Given the description of an element on the screen output the (x, y) to click on. 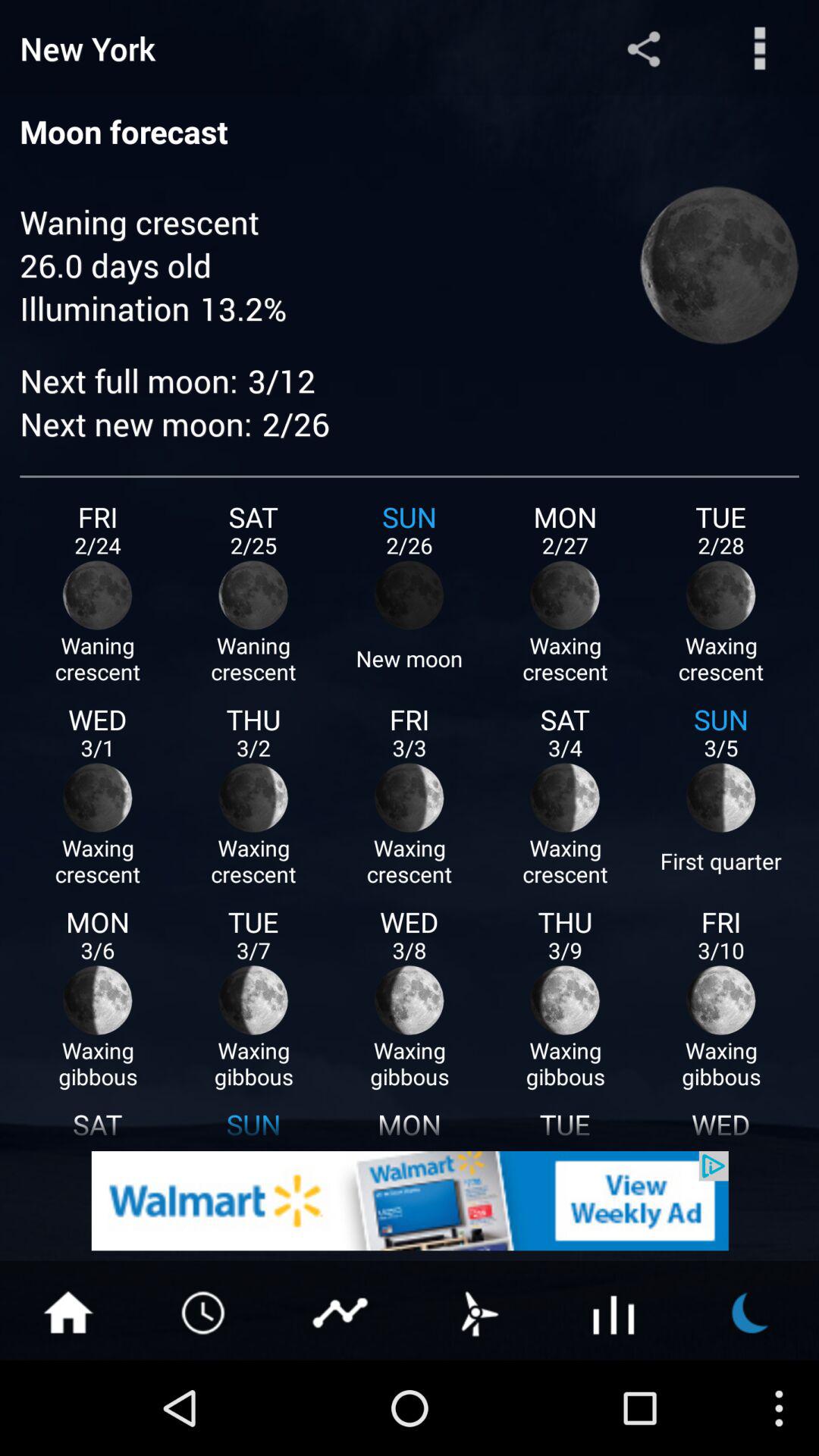
go to search (759, 48)
